Given the description of an element on the screen output the (x, y) to click on. 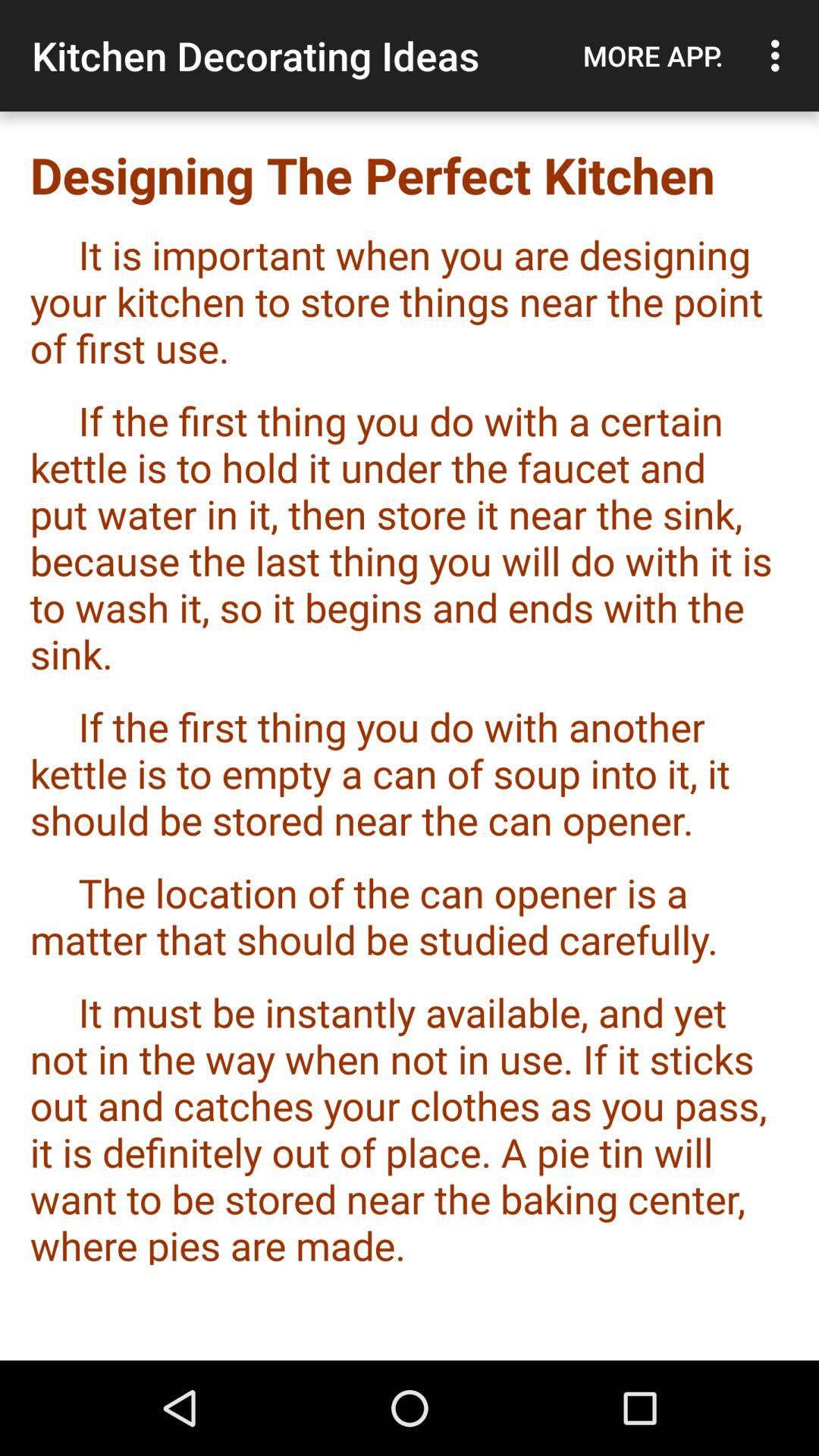
tap the item above designing the perfect icon (653, 55)
